Given the description of an element on the screen output the (x, y) to click on. 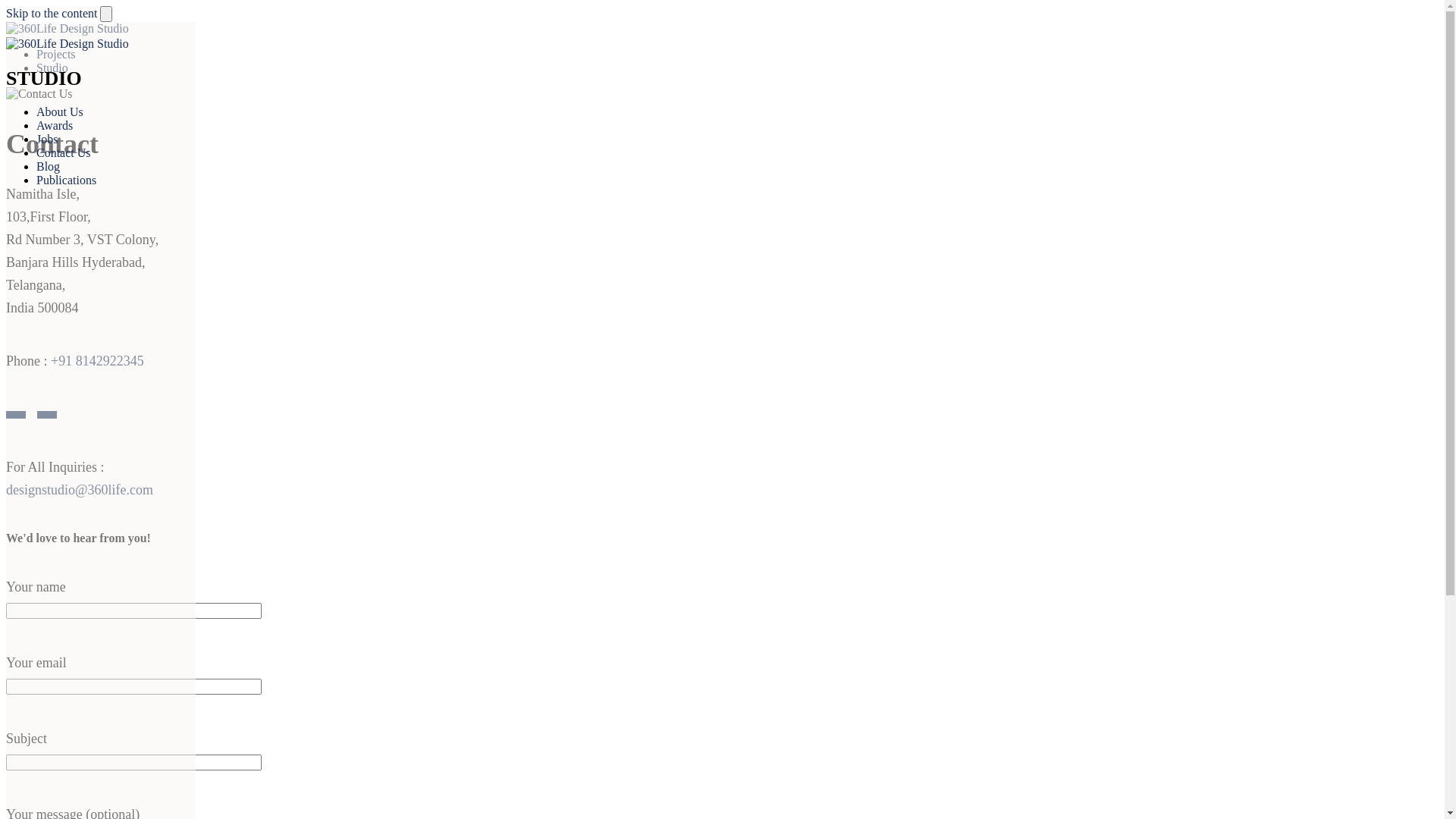
Jobs Element type: text (46, 138)
Studio Element type: text (52, 67)
designstudio@360life.com Element type: text (79, 489)
Awards Element type: text (54, 125)
Blog Element type: text (47, 166)
Contact Us Element type: text (63, 152)
+91 8142922345 Element type: text (97, 360)
Projects Element type: text (55, 53)
Publications Element type: text (66, 179)
Skip to the content Element type: text (51, 12)
About Us Element type: text (59, 111)
